Given the description of an element on the screen output the (x, y) to click on. 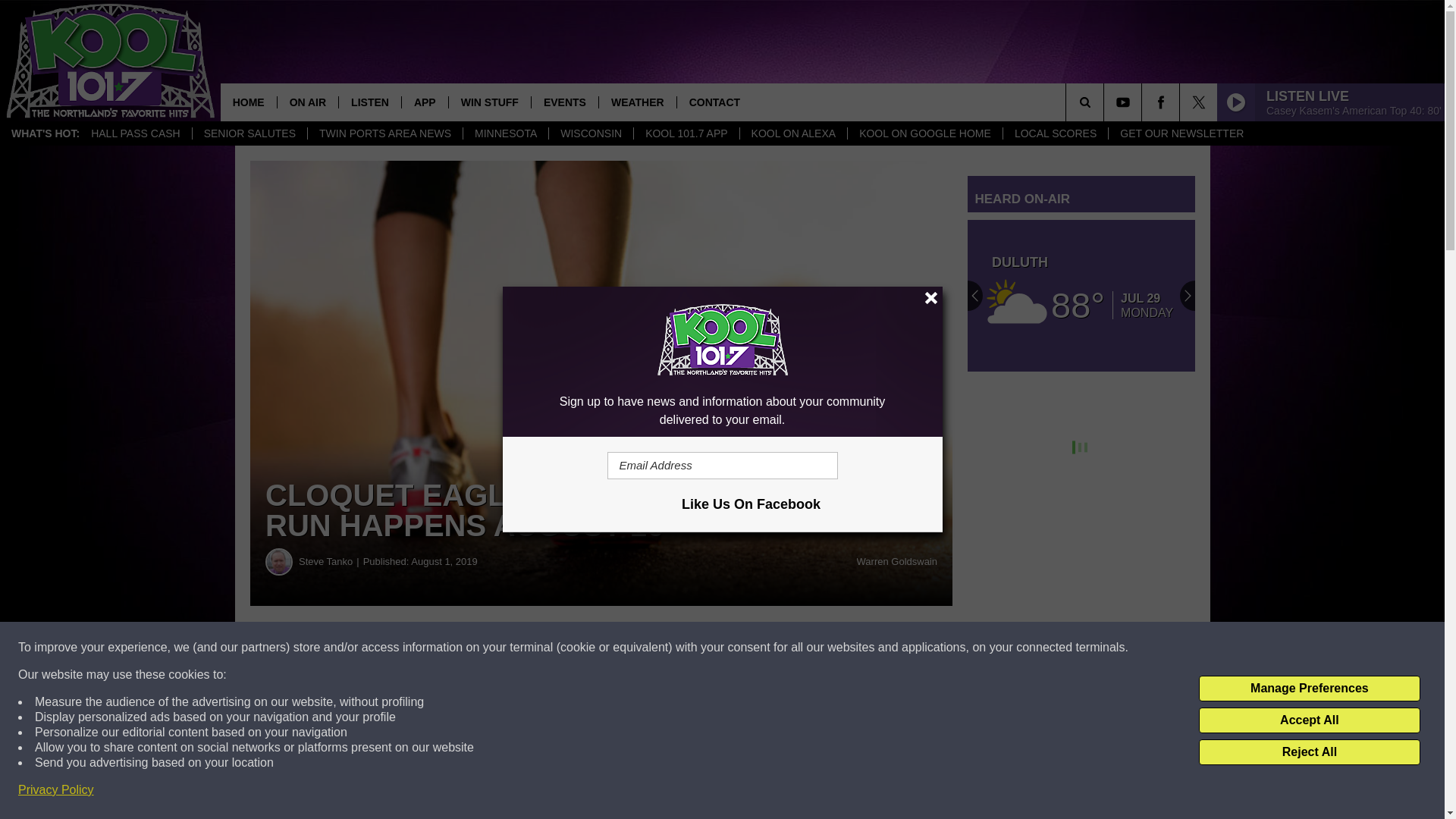
Accept All (1309, 720)
LOCAL SCORES (1055, 133)
SEARCH (1106, 102)
GET OUR NEWSLETTER (1181, 133)
MINNESOTA (505, 133)
Share on Twitter (741, 647)
HALL PASS CASH (136, 133)
Privacy Policy (55, 789)
KOOL ON ALEXA (793, 133)
WIN STUFF (489, 102)
ON AIR (306, 102)
Email Address (722, 465)
WISCONSIN (590, 133)
TWIN PORTS AREA NEWS (385, 133)
LISTEN (369, 102)
